Given the description of an element on the screen output the (x, y) to click on. 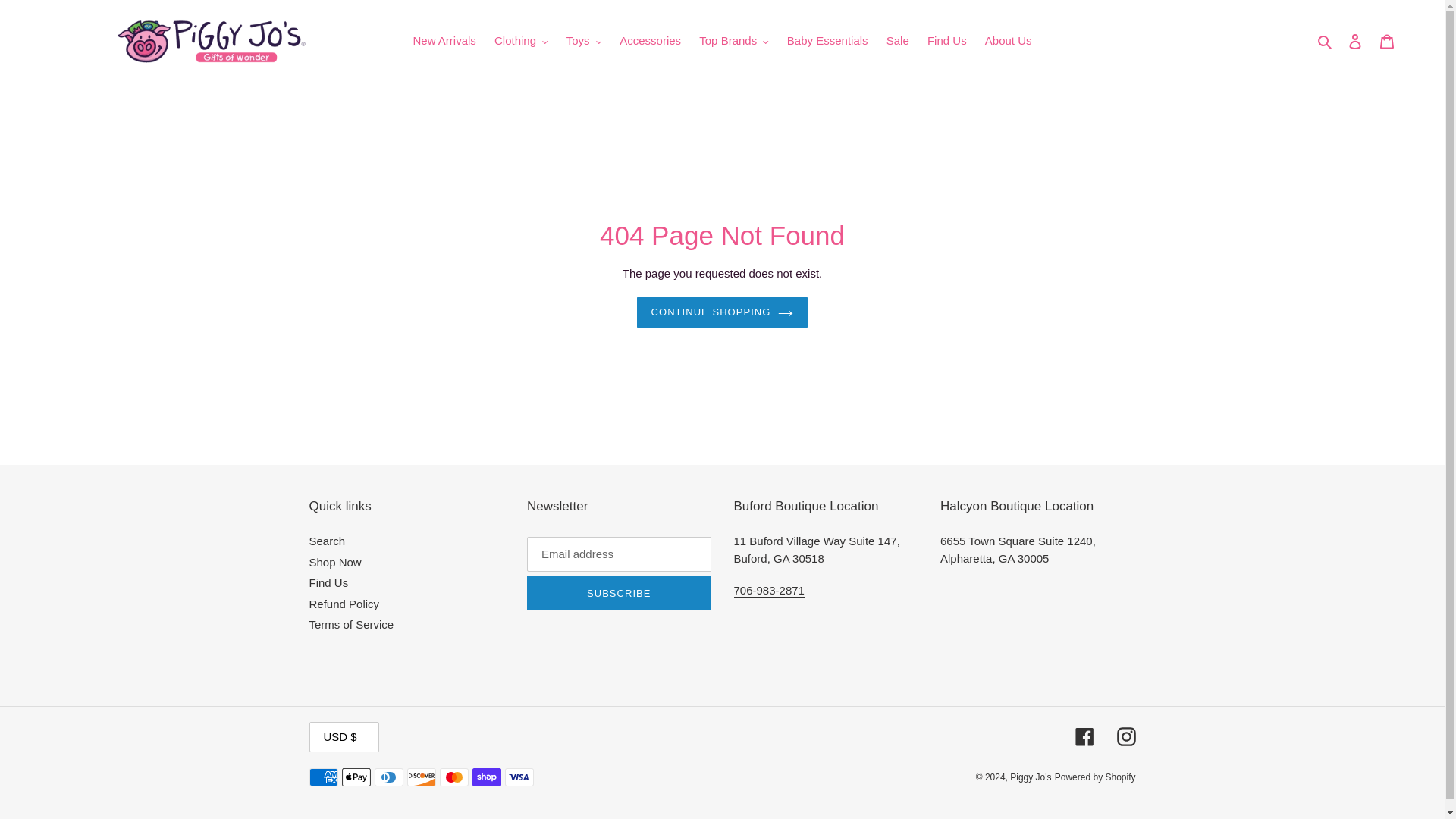
Find Us (947, 41)
Top Brands (733, 41)
New Arrivals (443, 41)
Toys (583, 41)
Baby Essentials (827, 41)
Accessories (649, 41)
About Us (1007, 41)
Clothing (521, 41)
Sale (898, 41)
